Given the description of an element on the screen output the (x, y) to click on. 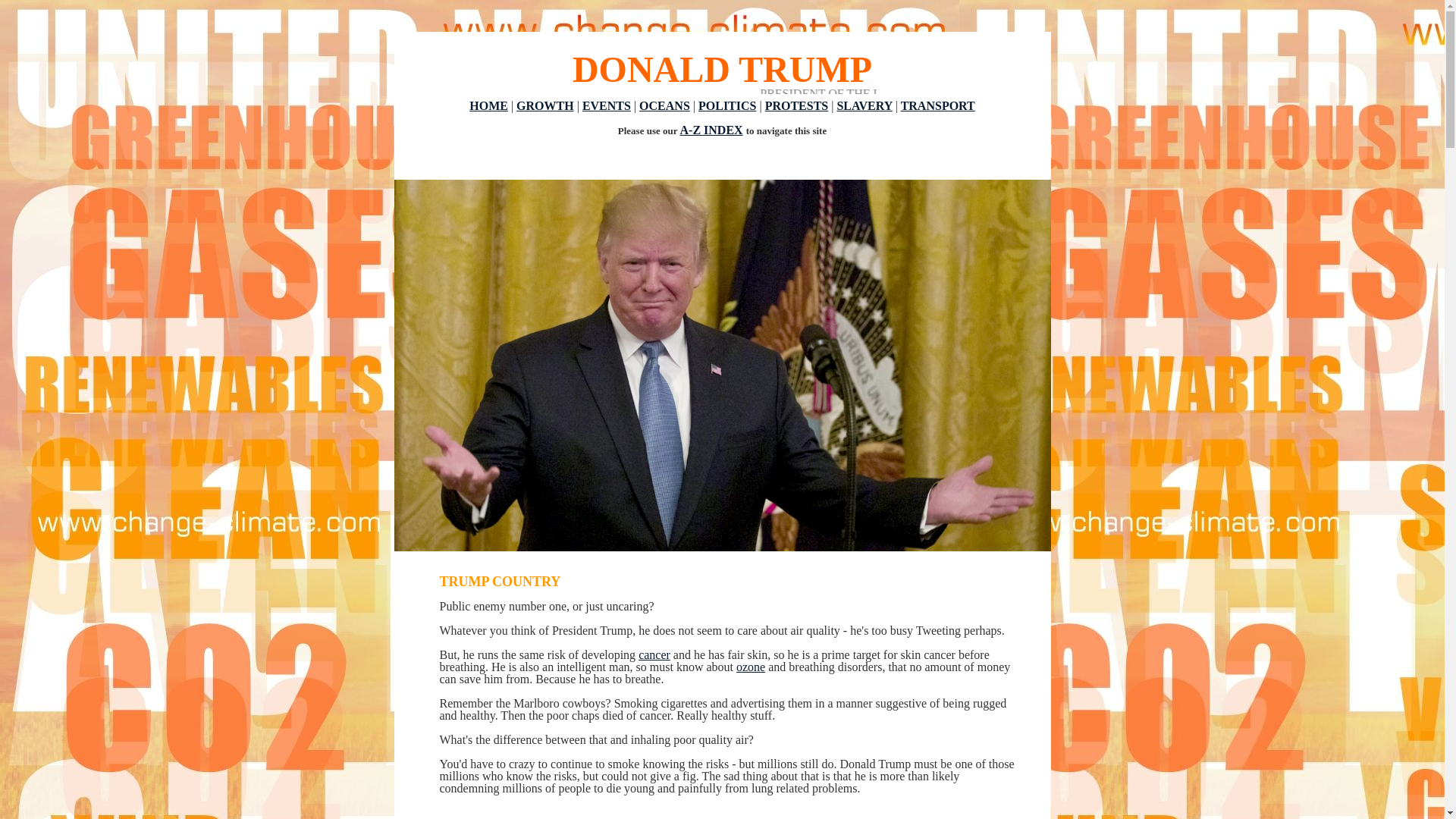
POLITICS (726, 105)
HOME (488, 105)
EVENTS (606, 105)
GROWTH (544, 105)
OCEANS (664, 105)
SLAVERY (863, 105)
PROTESTS (796, 105)
A-Z INDEX (710, 129)
ozone (750, 666)
TRANSPORT (938, 105)
cancer (654, 654)
